Given the description of an element on the screen output the (x, y) to click on. 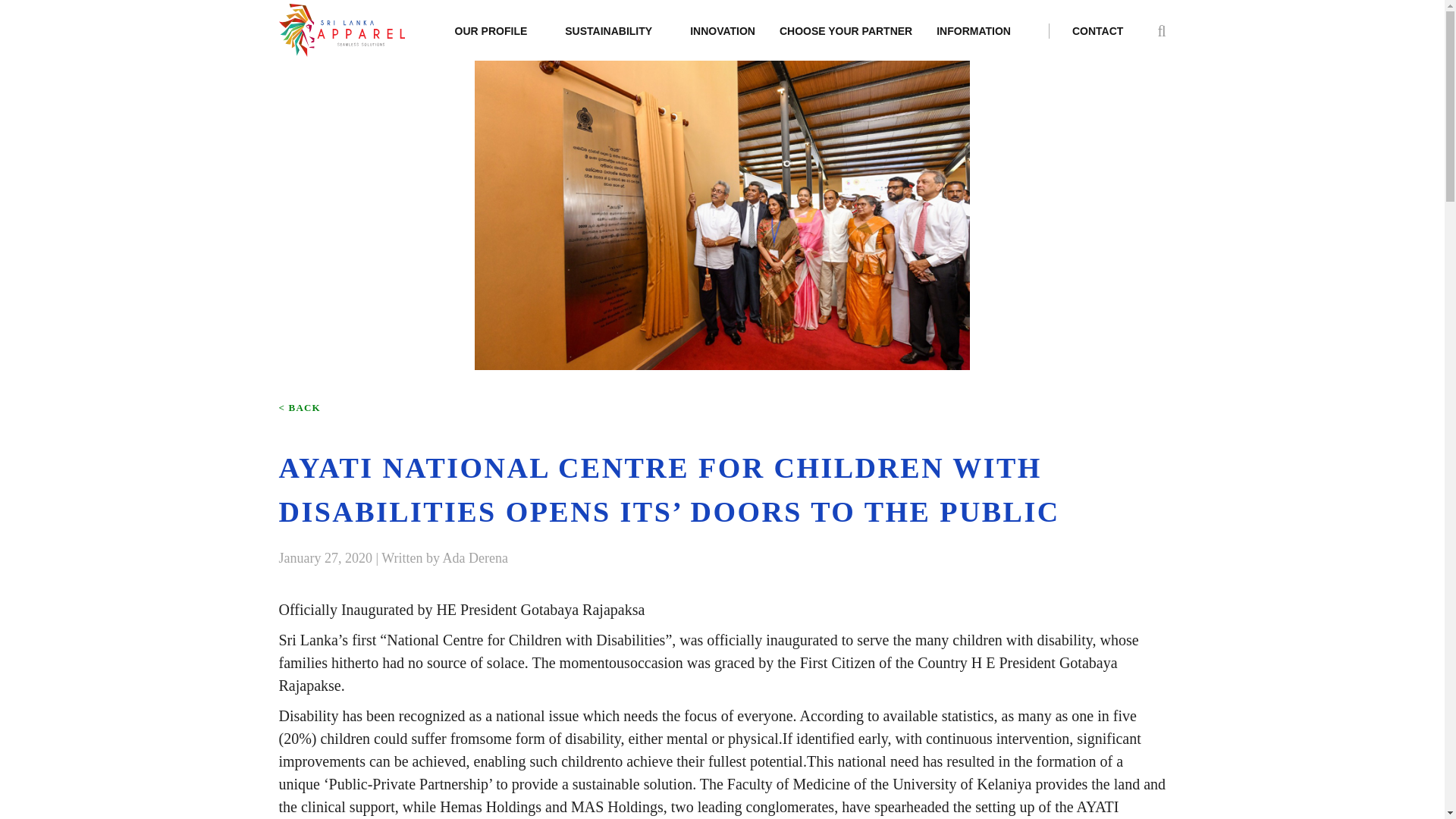
INNOVATION (722, 41)
Search (1141, 84)
CONTACT (1085, 30)
Sustainability (608, 41)
Choose your partner (845, 41)
Information (973, 41)
CHOOSE YOUR PARTNER (845, 41)
BACK (299, 407)
Innovation (722, 41)
INFORMATION (973, 41)
